Given the description of an element on the screen output the (x, y) to click on. 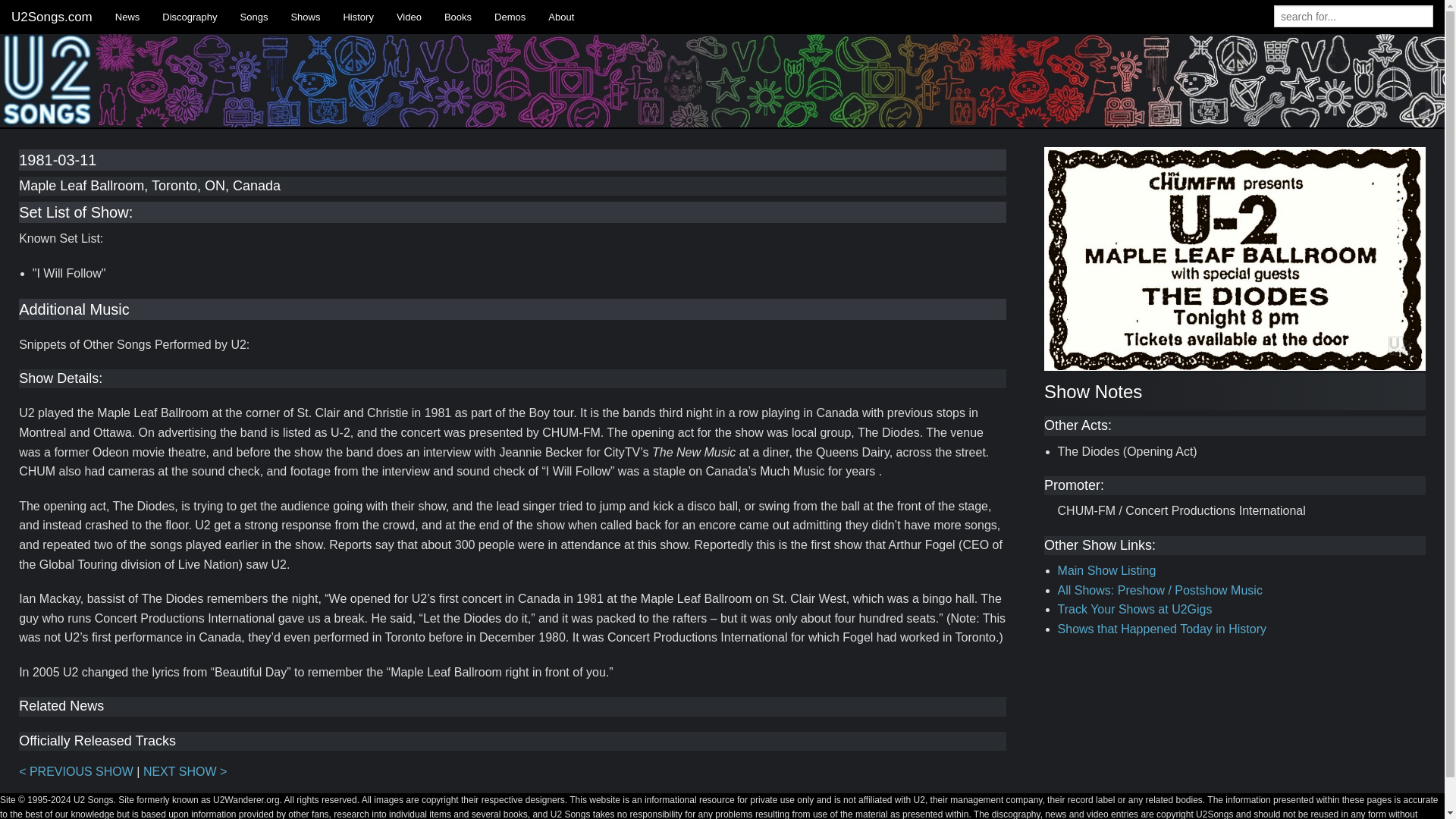
About (561, 17)
Songs (253, 17)
U2Songs.com (51, 17)
Shows (305, 17)
History (357, 17)
News (127, 17)
Track Your Shows at U2Gigs (1135, 608)
Shows that Happened Today in History (1162, 628)
Books (457, 17)
Discography (189, 17)
Video (408, 17)
Demos (510, 17)
Main Show Listing (1107, 570)
